Given the description of an element on the screen output the (x, y) to click on. 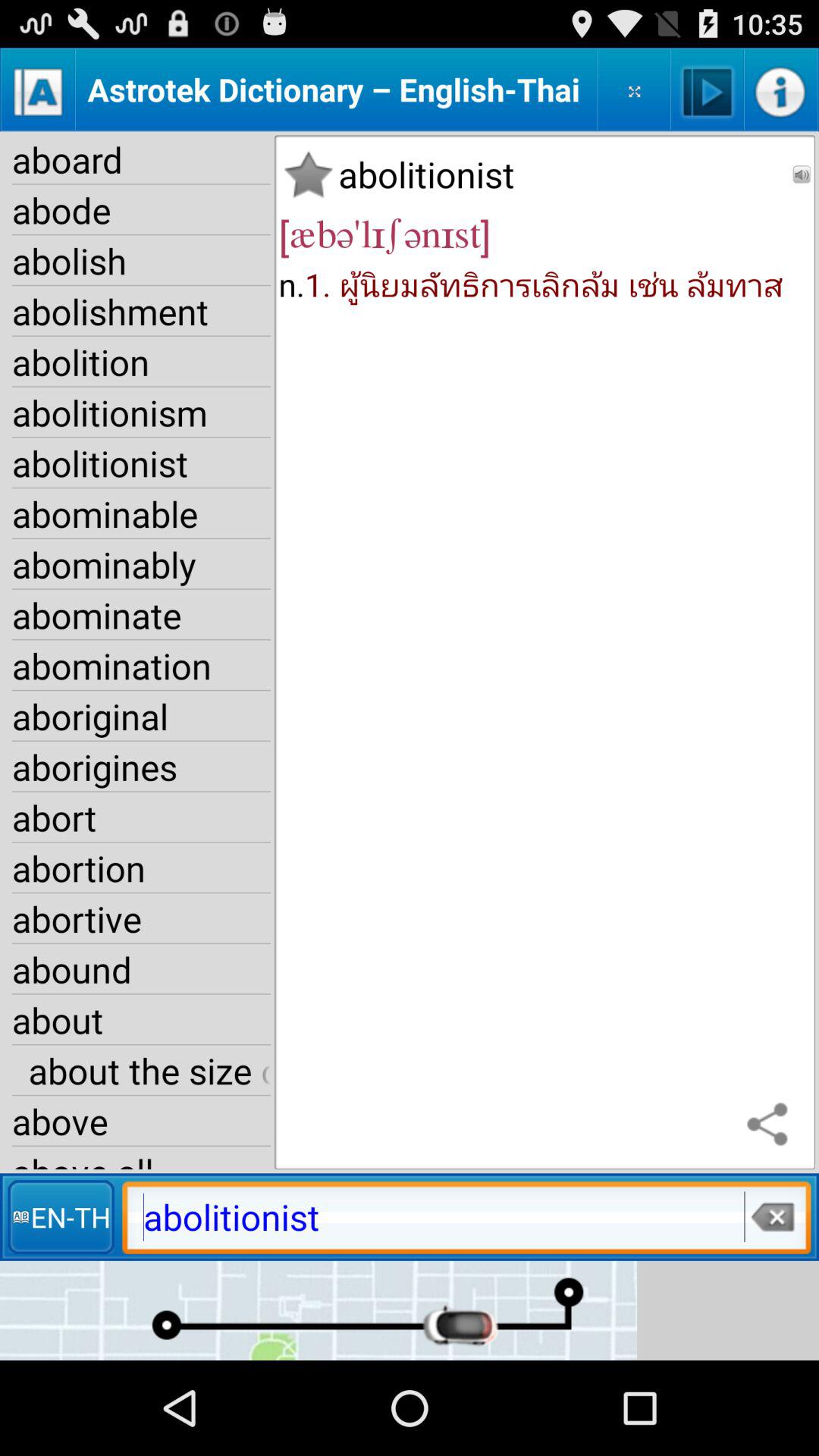
flip until the abortive item (140, 918)
